Given the description of an element on the screen output the (x, y) to click on. 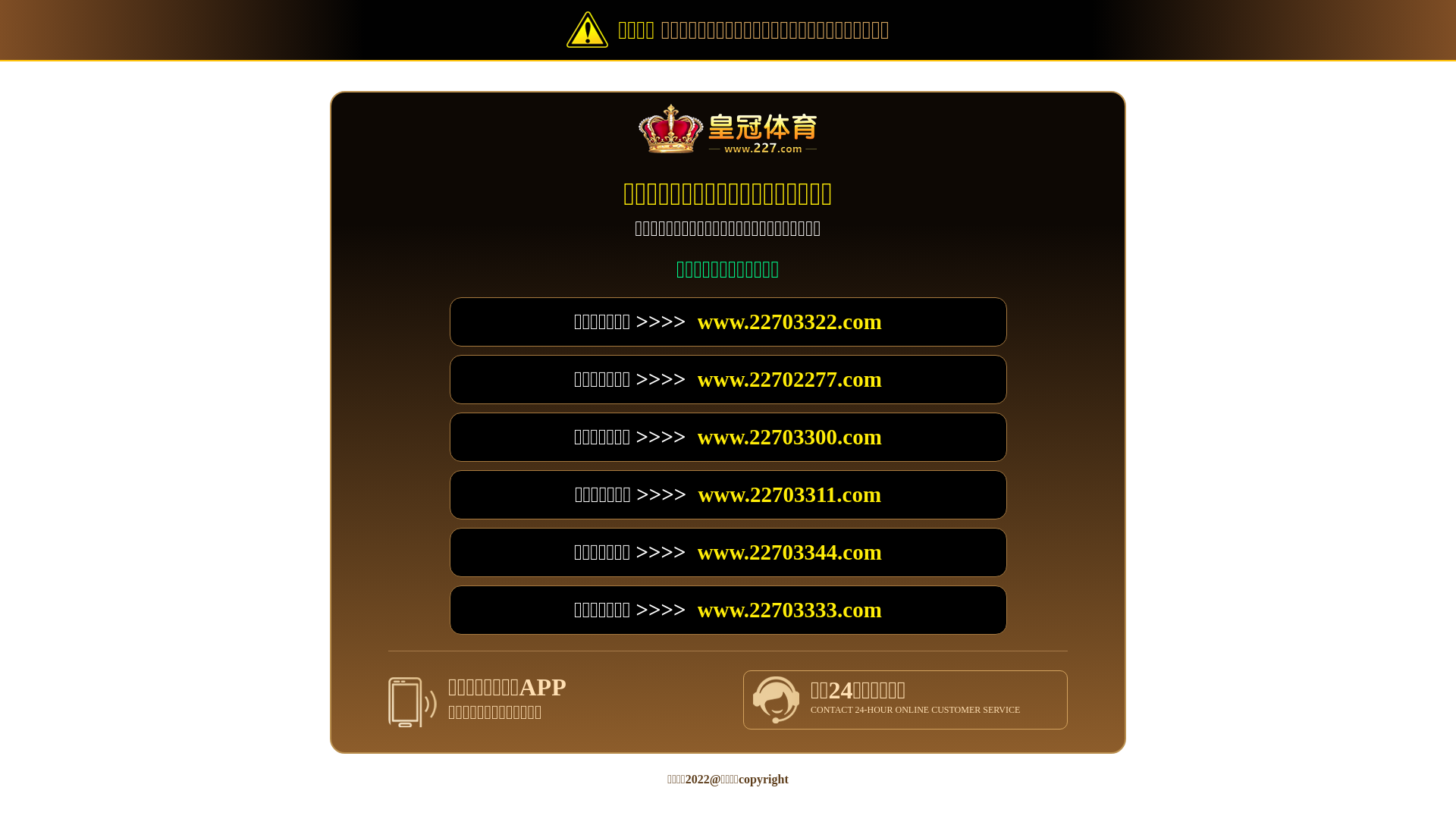
www.22703333.com Element type: text (789, 609)
www.22703311.com Element type: text (789, 494)
www.22703300.com Element type: text (789, 436)
www.22702277.com Element type: text (789, 379)
www.22703344.com Element type: text (789, 551)
www.22703322.com Element type: text (789, 321)
